Given the description of an element on the screen output the (x, y) to click on. 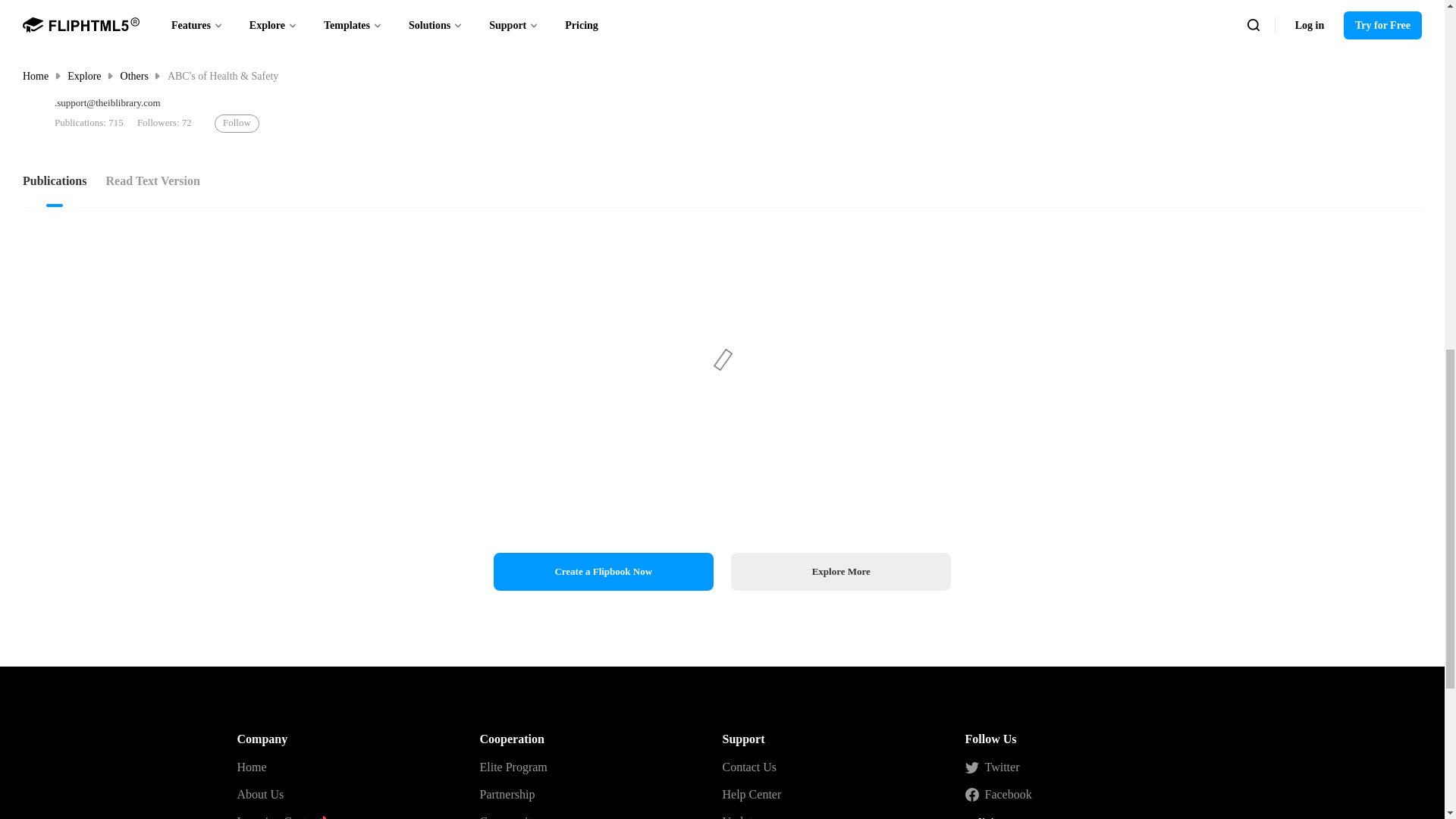
Visit Homepage (34, 115)
